Given the description of an element on the screen output the (x, y) to click on. 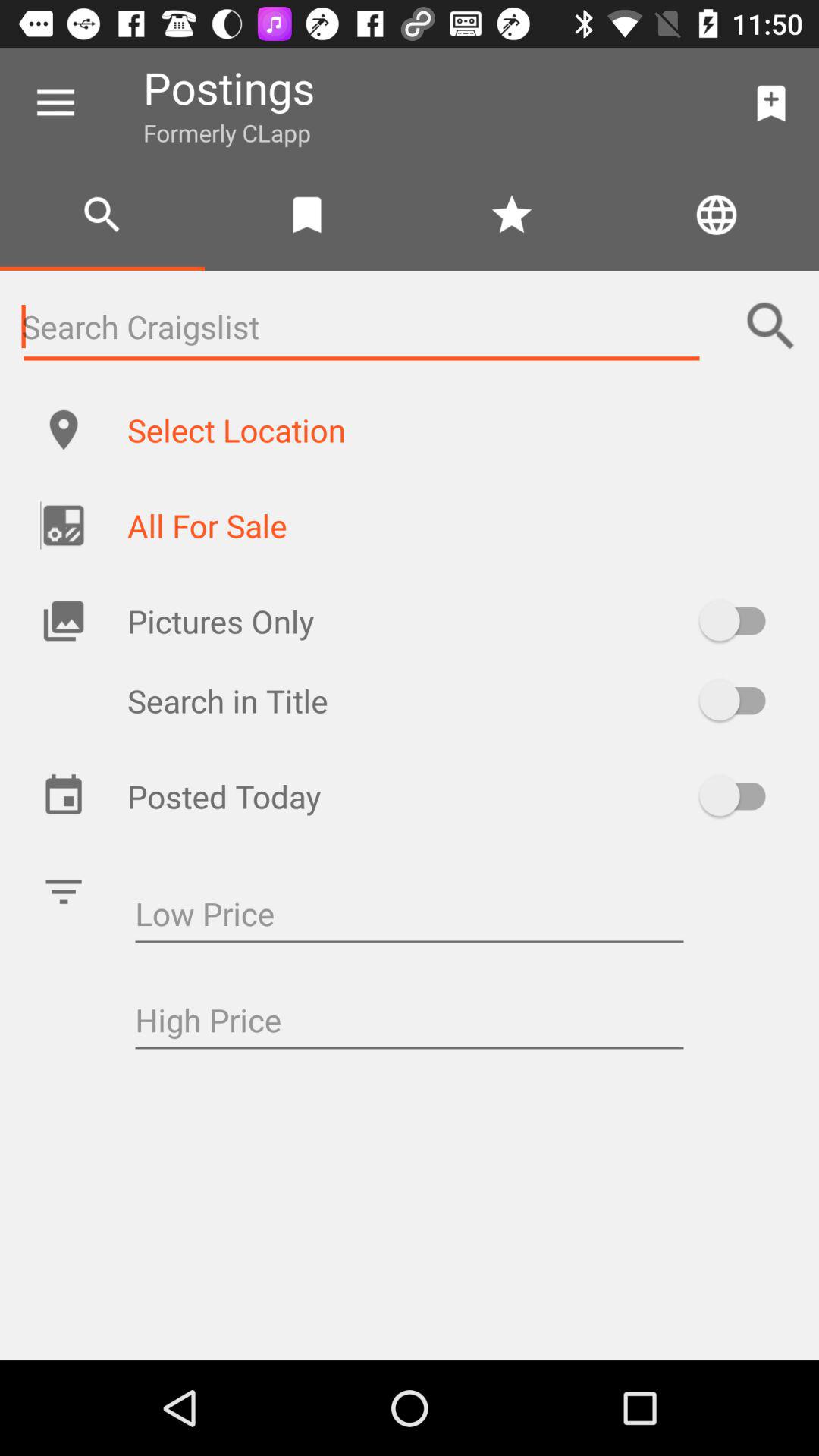
search bar (361, 326)
